Given the description of an element on the screen output the (x, y) to click on. 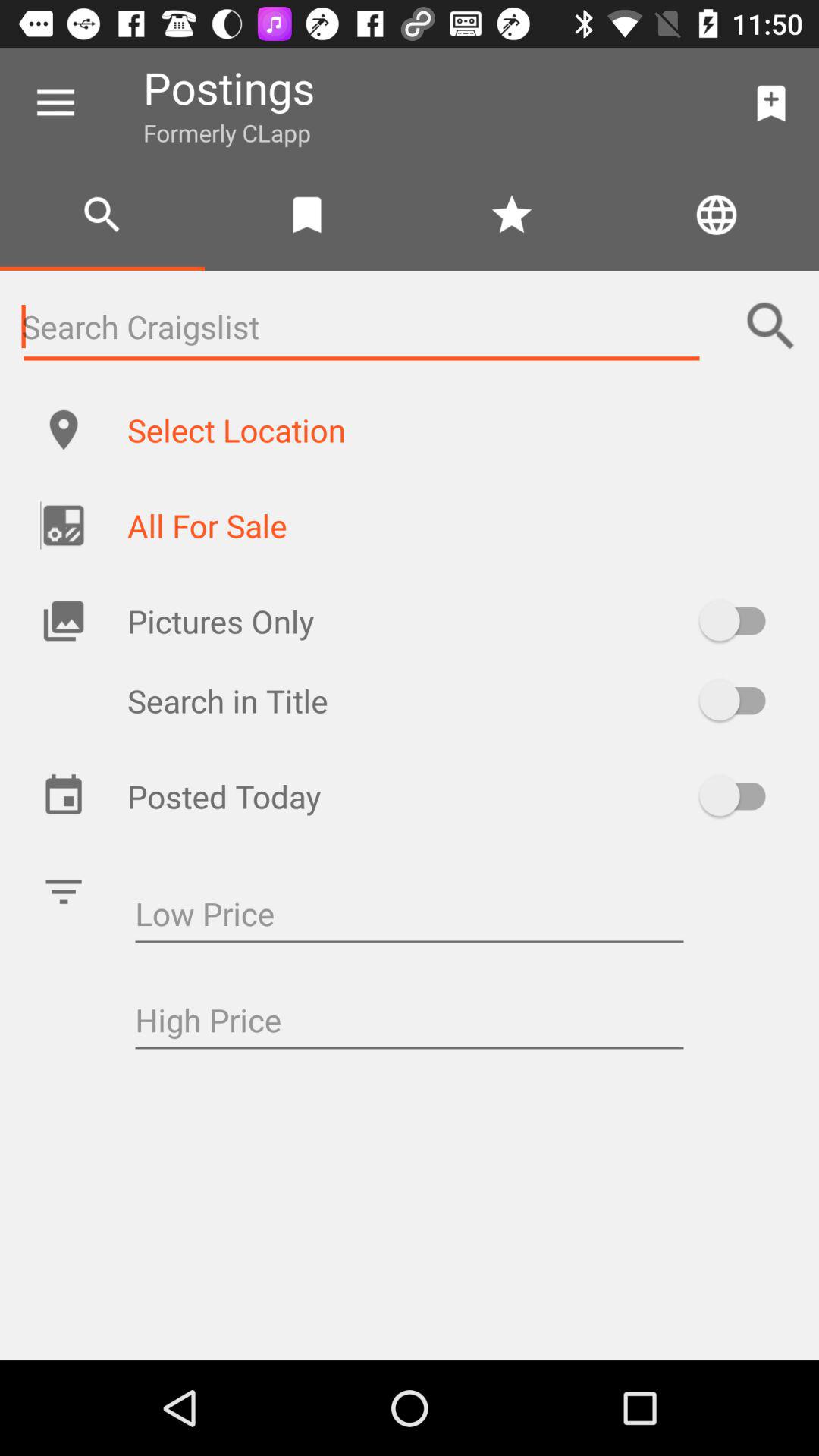
search bar (361, 326)
